Given the description of an element on the screen output the (x, y) to click on. 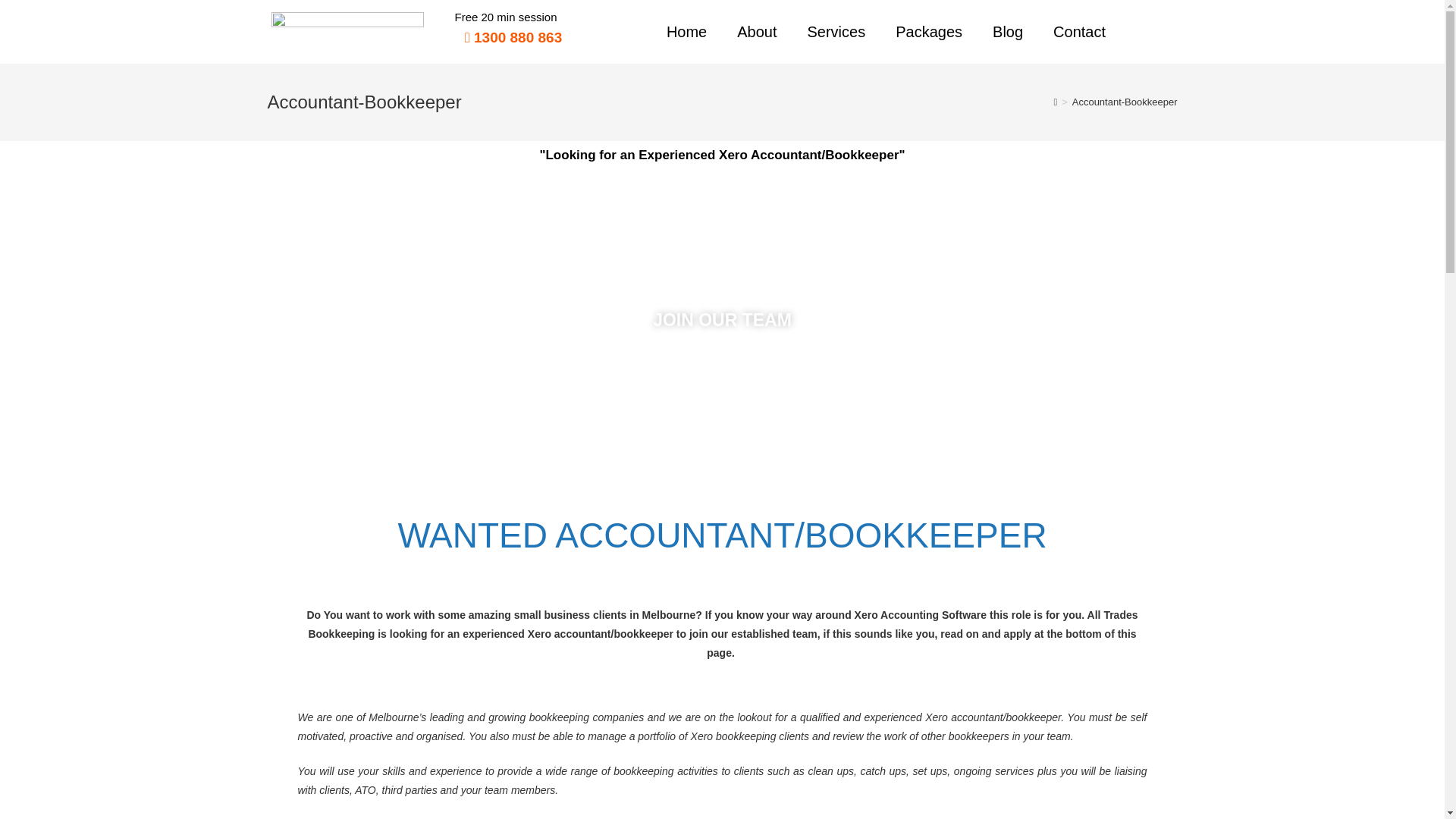
1300 880 863 (512, 37)
Packages (928, 31)
Home (686, 31)
Accountant-Bookkeeper (1124, 101)
About (757, 31)
Blog (1007, 31)
Services (836, 31)
Contact (1079, 31)
